Given the description of an element on the screen output the (x, y) to click on. 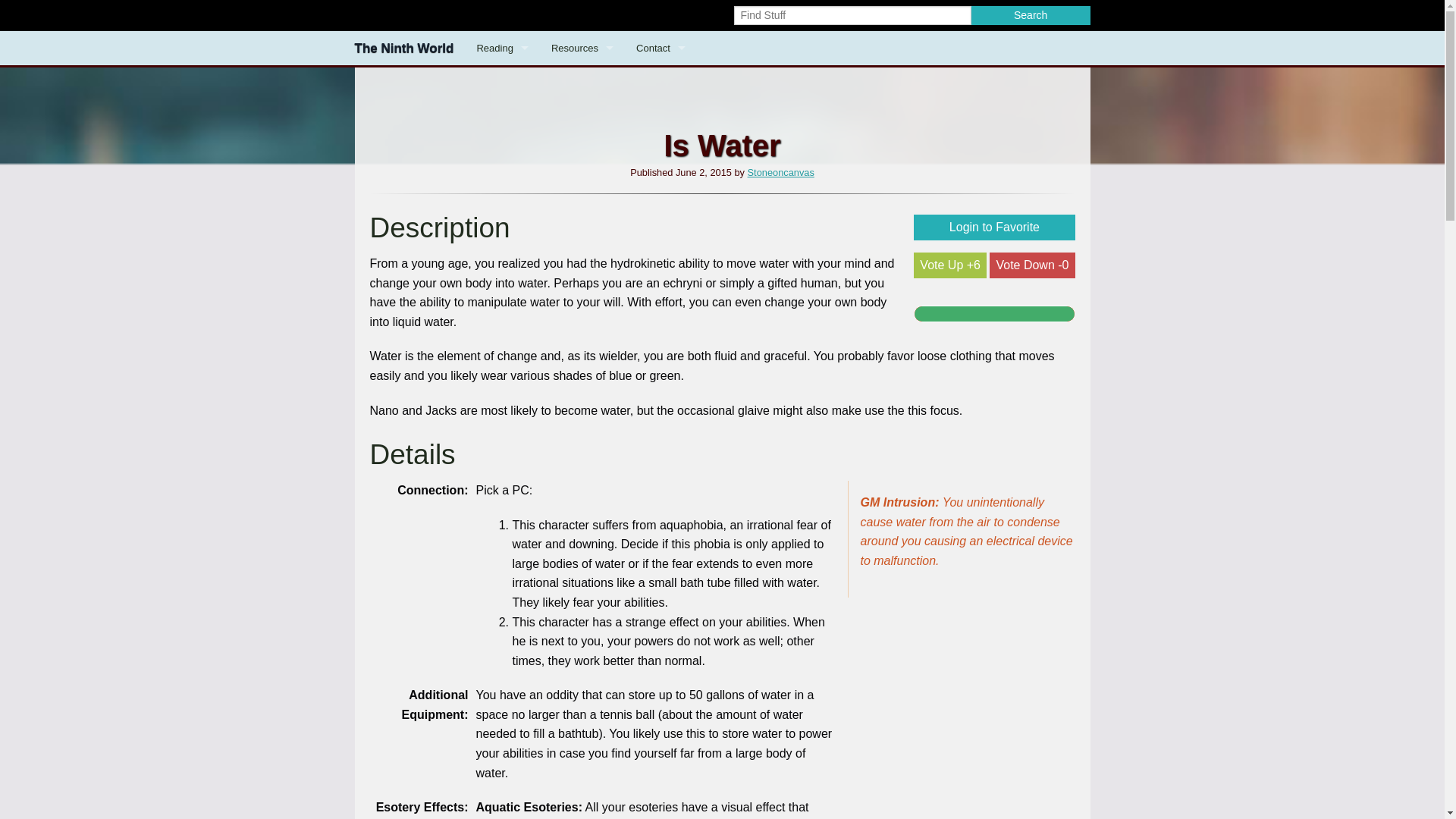
Search (1030, 15)
Vote Down -0 (1032, 265)
Posts by Stoneoncanvas (780, 172)
The Ninth World (403, 48)
Reading (501, 48)
Contact (660, 48)
Stoneoncanvas (780, 172)
Login to Add to Favorites (994, 227)
Resources (582, 48)
Search (1030, 15)
Login to Favorite (994, 227)
